Given the description of an element on the screen output the (x, y) to click on. 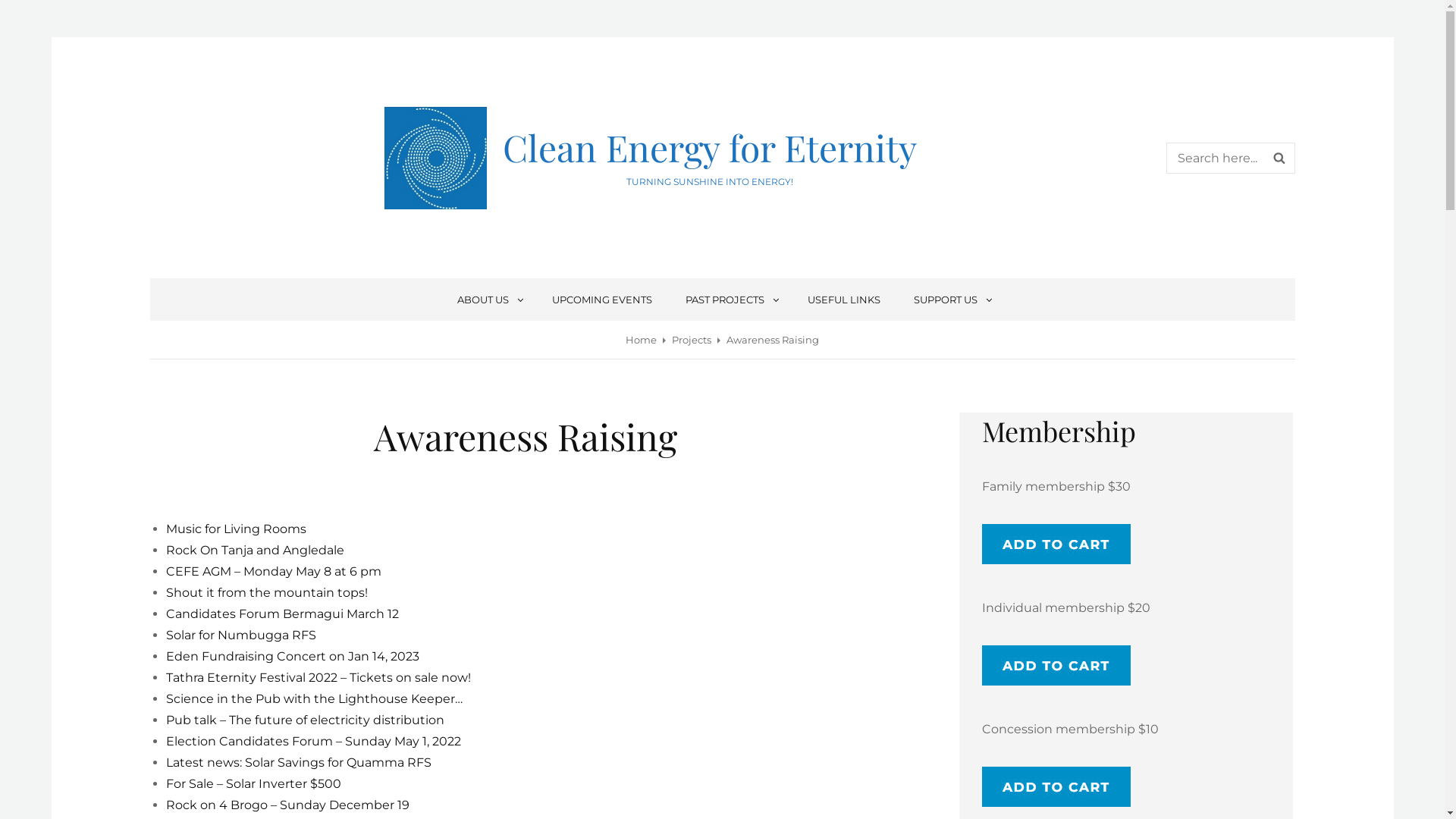
SEARCH Element type: text (1278, 157)
Projects Element type: text (691, 339)
Solar for Numbugga RFS Element type: text (240, 634)
Music for Living Rooms Element type: text (235, 528)
Rock On Tanja and Angledale Element type: text (254, 549)
Latest news: Solar Savings for Quamma RFS Element type: text (297, 762)
Eden Fundraising Concert on Jan 14, 2023 Element type: text (291, 656)
ABOUT US Element type: text (487, 299)
Clean Energy for Eternity Element type: text (709, 146)
PAST PROJECTS Element type: text (729, 299)
Candidates Forum Bermagui March 12 Element type: text (281, 613)
Shout it from the mountain tops! Element type: text (266, 592)
Home Element type: text (640, 339)
SUPPORT US Element type: text (950, 299)
USEFUL LINKS Element type: text (843, 299)
UPCOMING EVENTS Element type: text (601, 299)
